Given the description of an element on the screen output the (x, y) to click on. 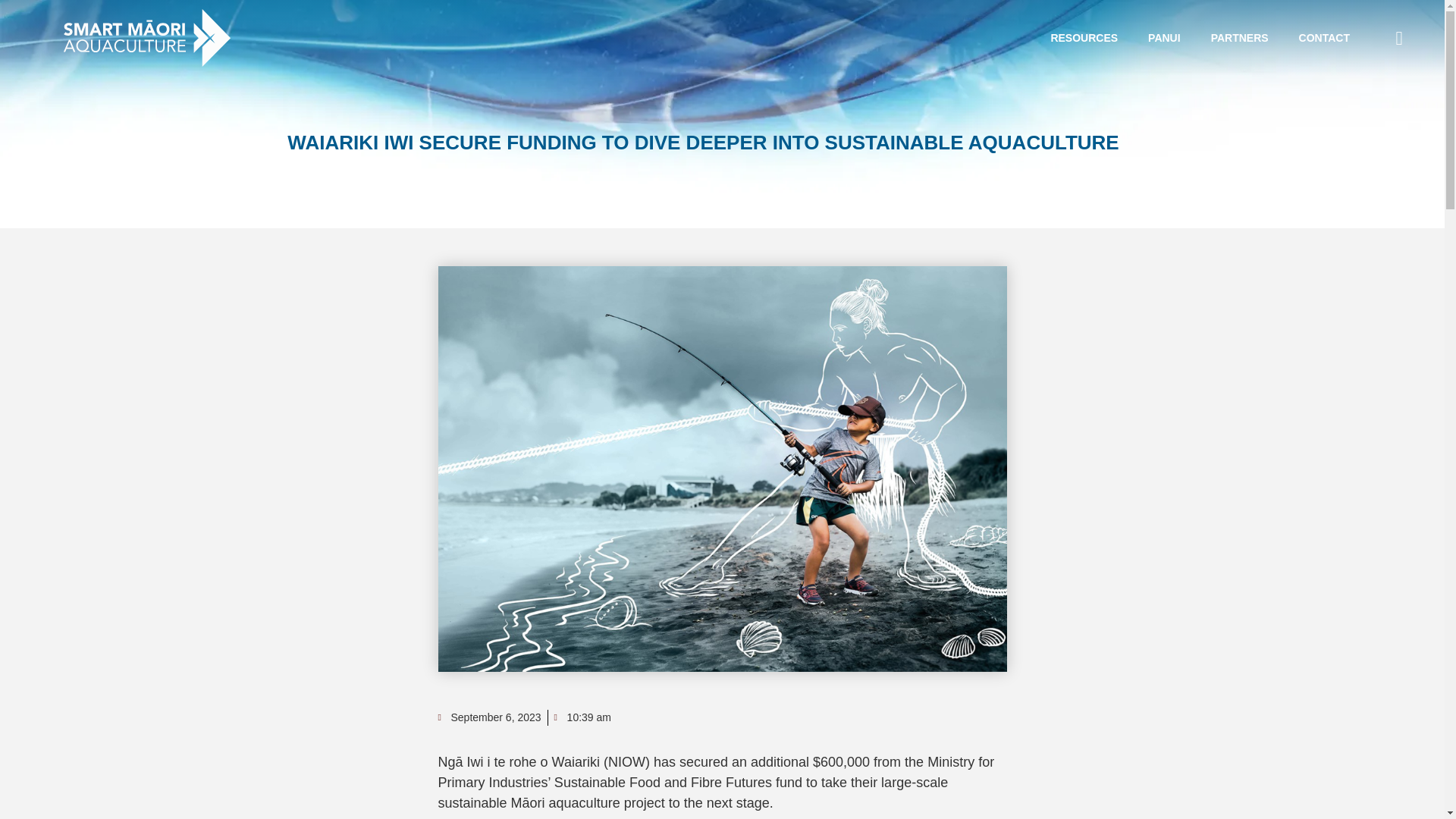
PARTNERS (1239, 37)
PANUI (1163, 37)
RESOURCES (1083, 37)
CONTACT (1324, 37)
